Given the description of an element on the screen output the (x, y) to click on. 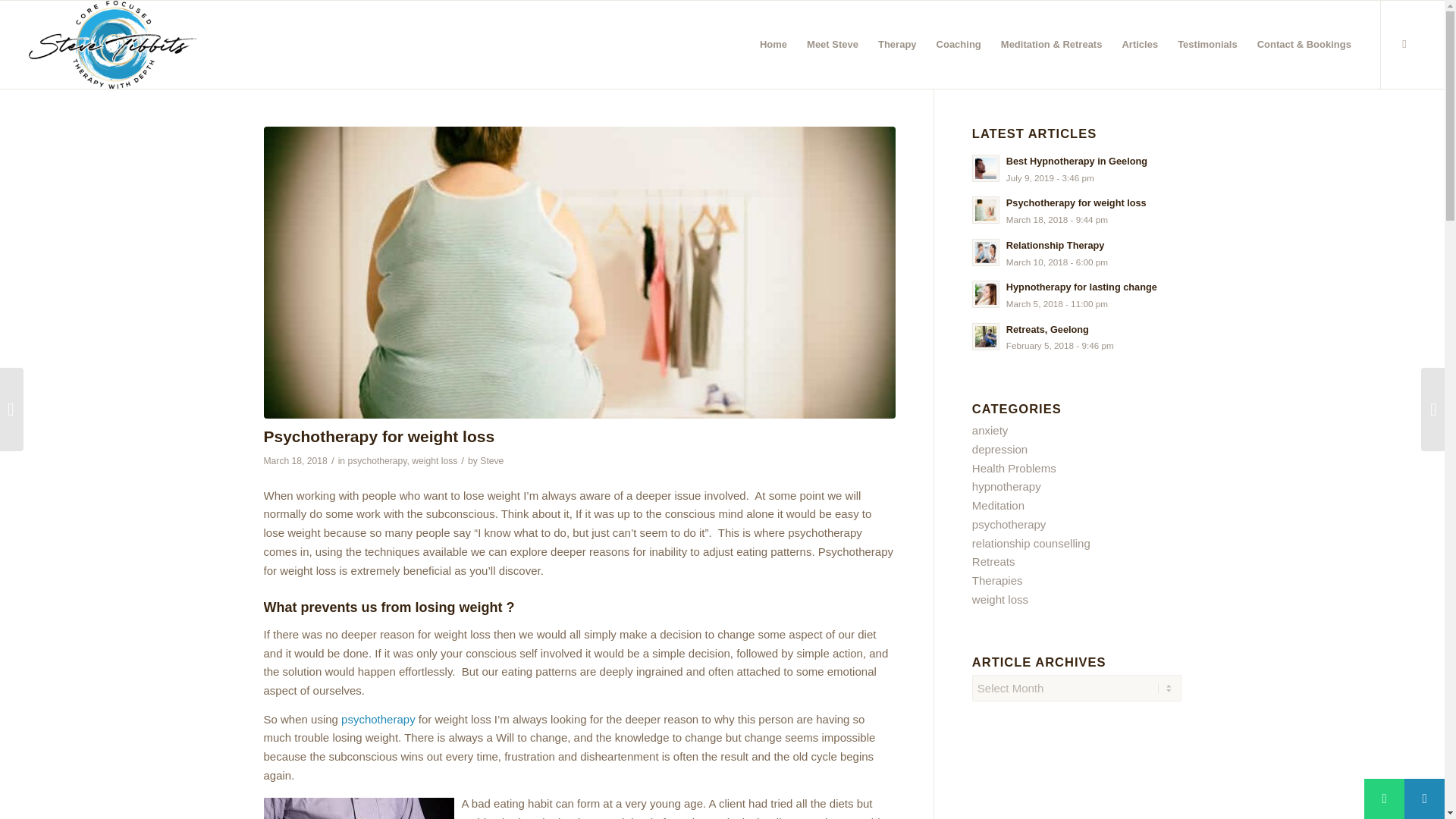
psychotherapy (376, 460)
Posts by Steve (491, 460)
weight loss (434, 460)
Testimonials (1207, 44)
psychotherapy (377, 718)
Steve (491, 460)
logo (113, 44)
logo (113, 44)
Facebook (1404, 43)
